Given the description of an element on the screen output the (x, y) to click on. 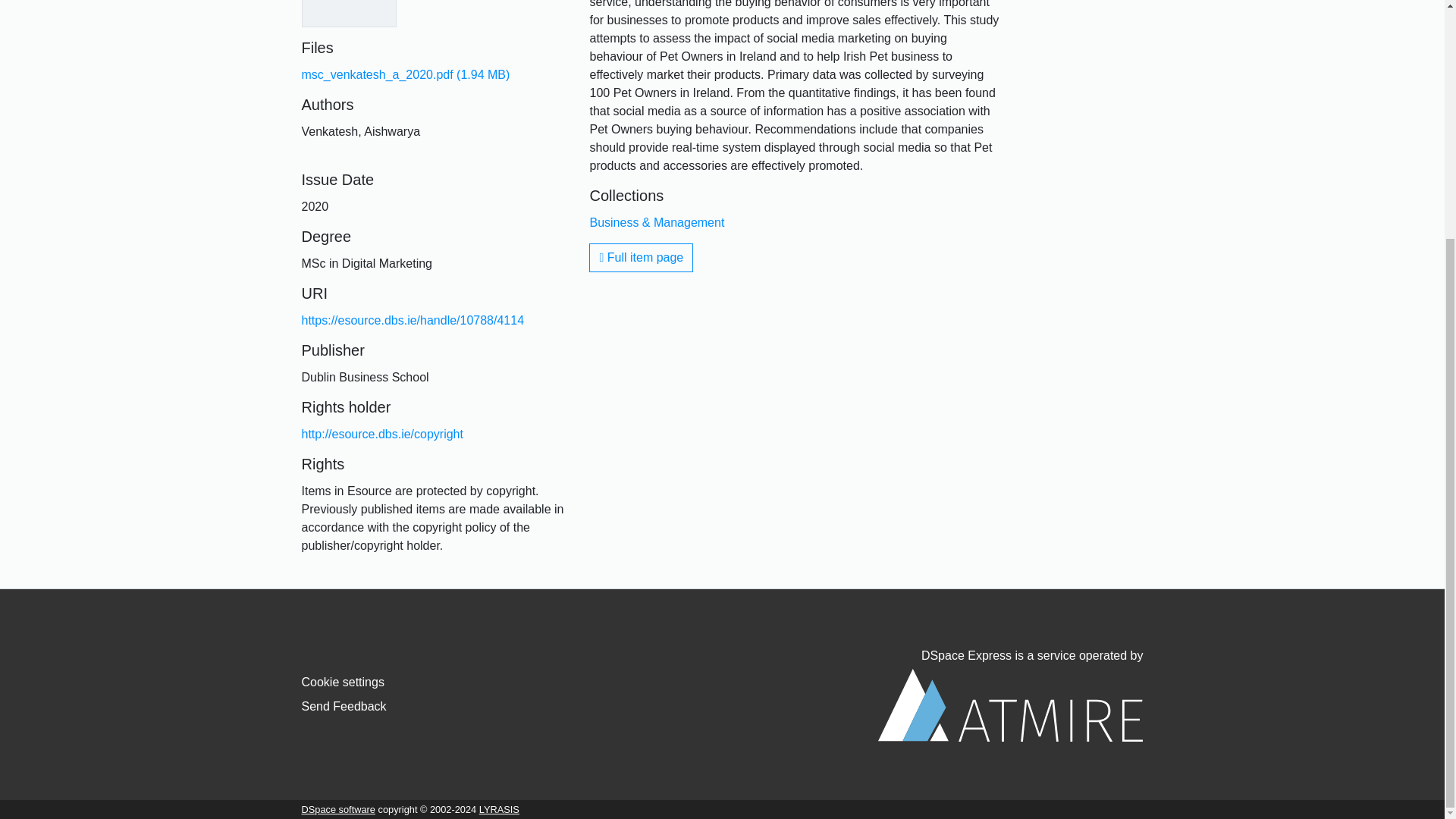
LYRASIS (499, 808)
DSpace Express is a service operated by (1009, 695)
Full item page (641, 257)
Send Feedback (344, 706)
DSpace software (338, 808)
Cookie settings (342, 681)
